Given the description of an element on the screen output the (x, y) to click on. 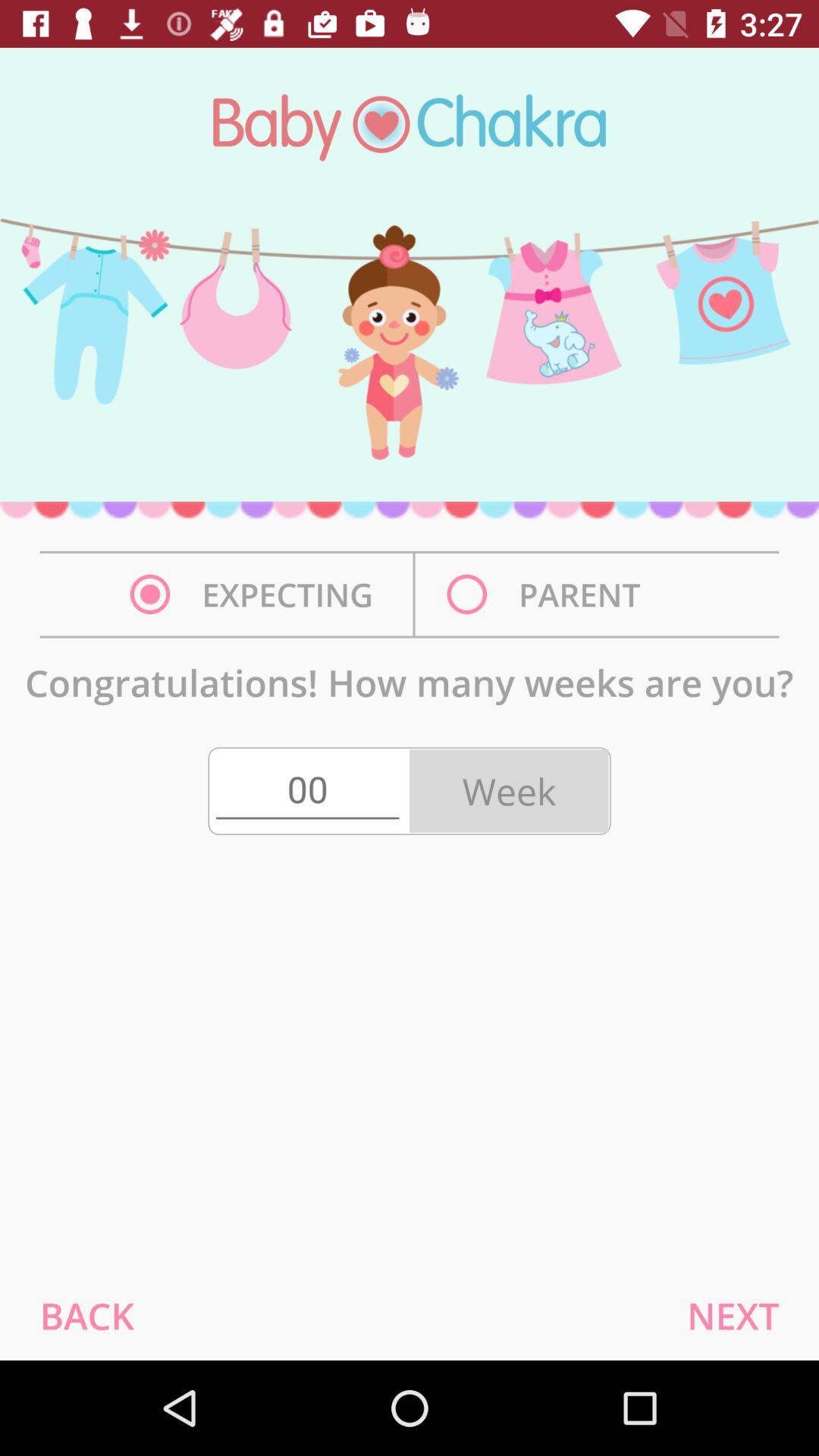
launch item below the congratulations how many item (307, 790)
